Given the description of an element on the screen output the (x, y) to click on. 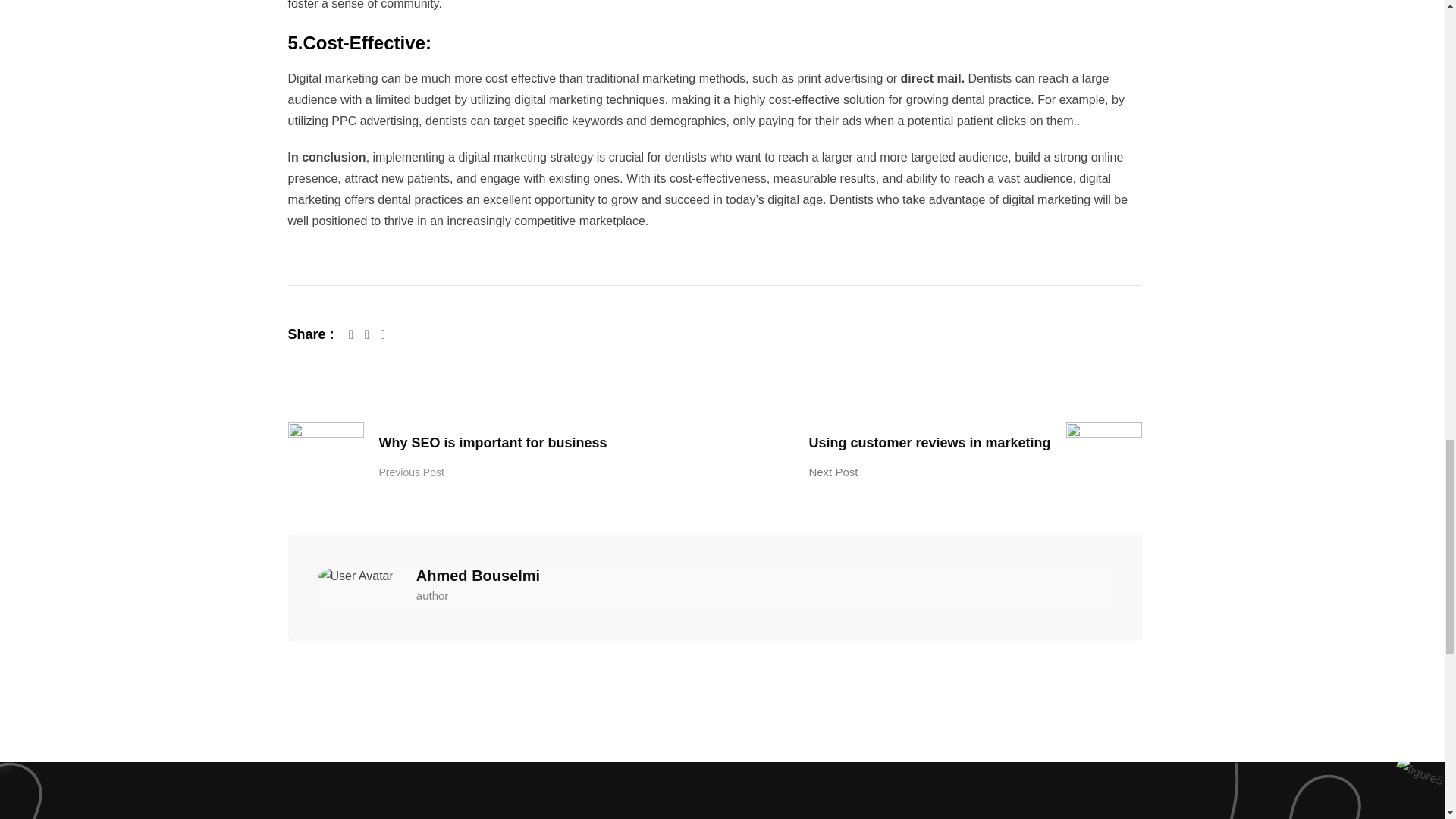
Posts by Ahmed Bouselmi (478, 575)
